Given the description of an element on the screen output the (x, y) to click on. 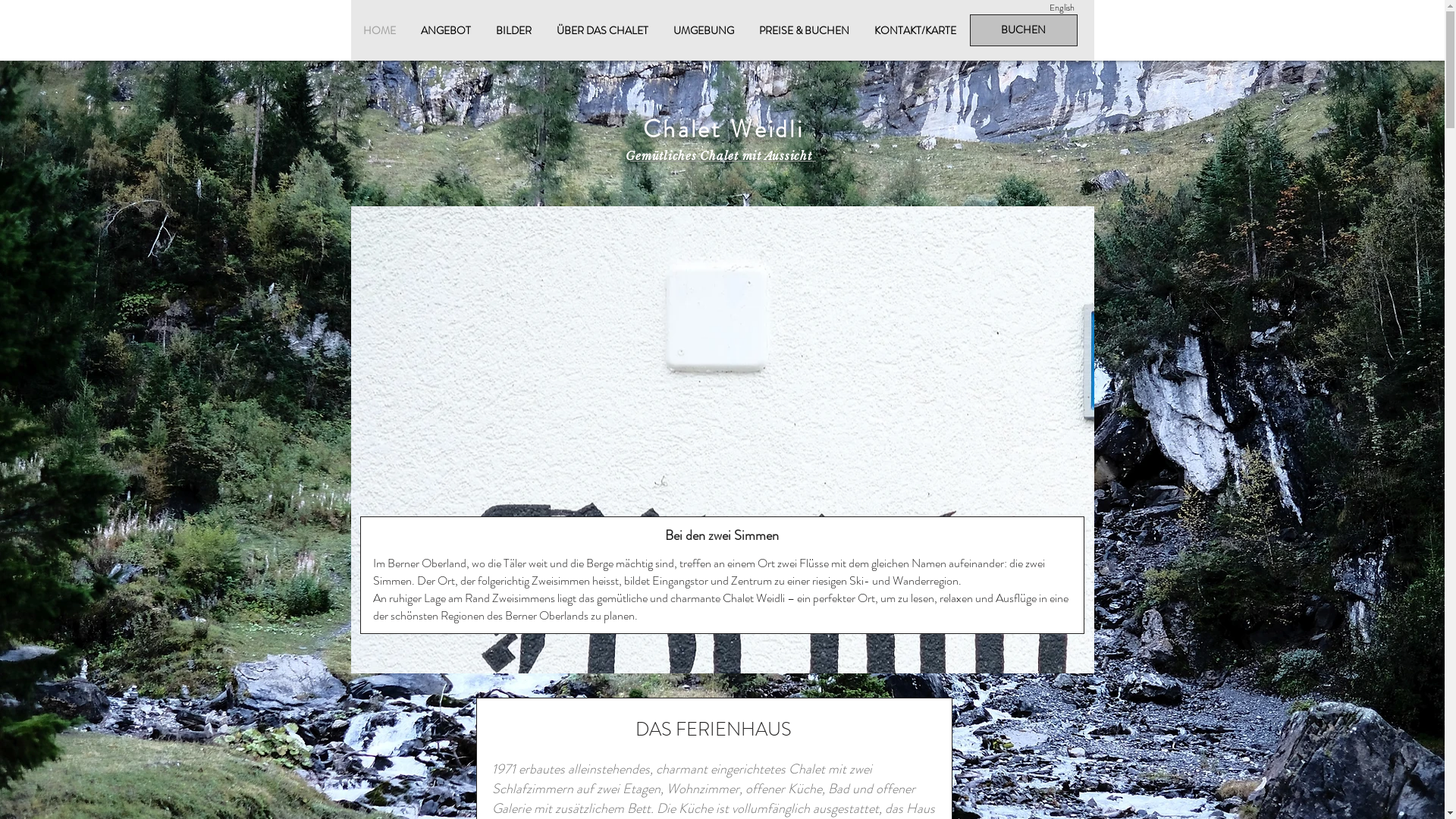
HOME Element type: text (378, 30)
PREISE & BUCHEN Element type: text (803, 30)
BUCHEN Element type: text (1022, 30)
ANGEBOT Element type: text (445, 30)
English Element type: text (1061, 7)
UMGEBUNG Element type: text (703, 30)
BILDER Element type: text (513, 30)
KONTAKT/KARTE Element type: text (914, 30)
